Given the description of an element on the screen output the (x, y) to click on. 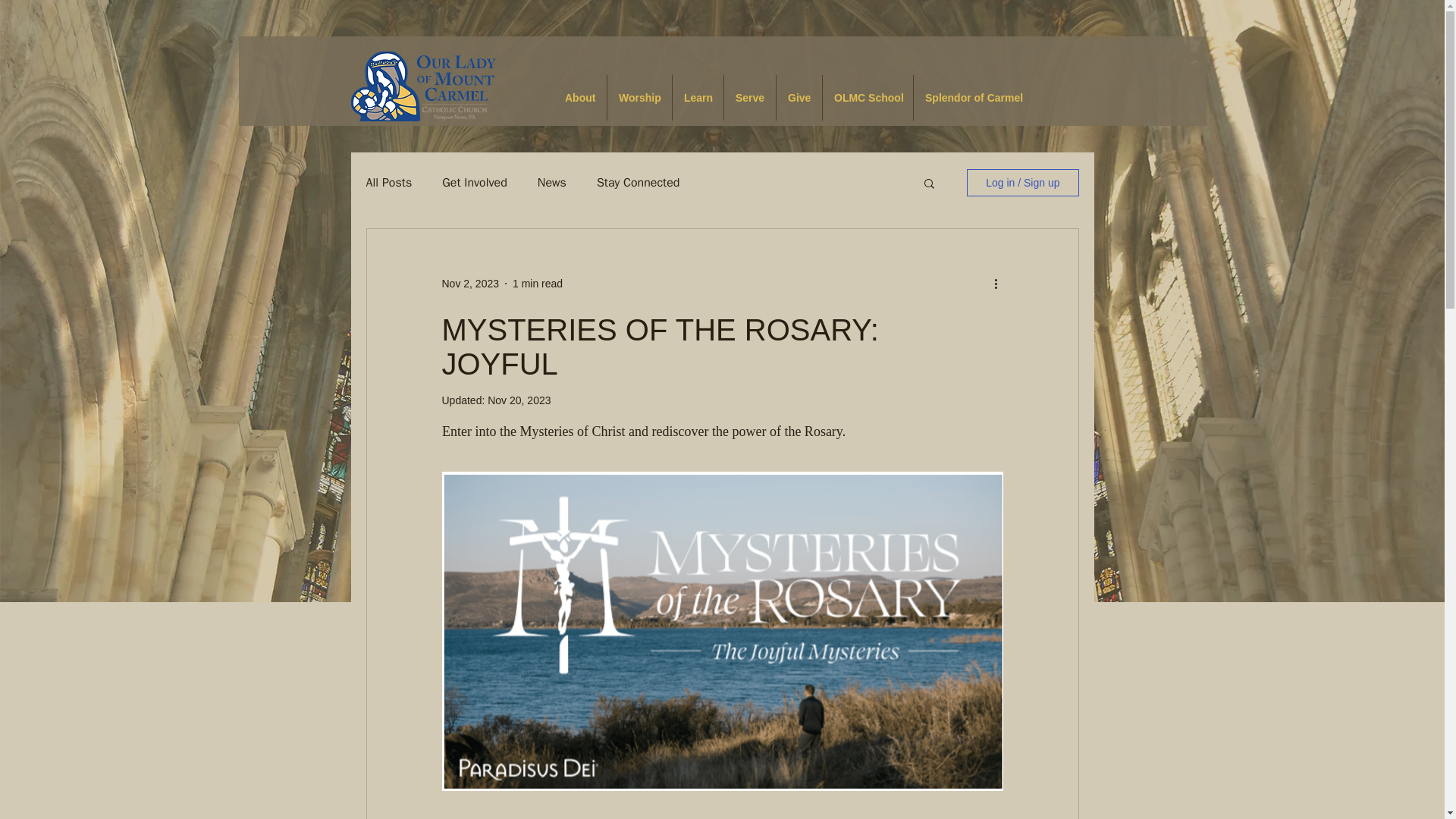
Get Involved (474, 182)
Splendor of Carmel (973, 97)
News (551, 182)
Nov 20, 2023 (518, 399)
1 min read (537, 283)
Nov 2, 2023 (470, 283)
OLMC School (867, 97)
All Posts (388, 182)
